Given the description of an element on the screen output the (x, y) to click on. 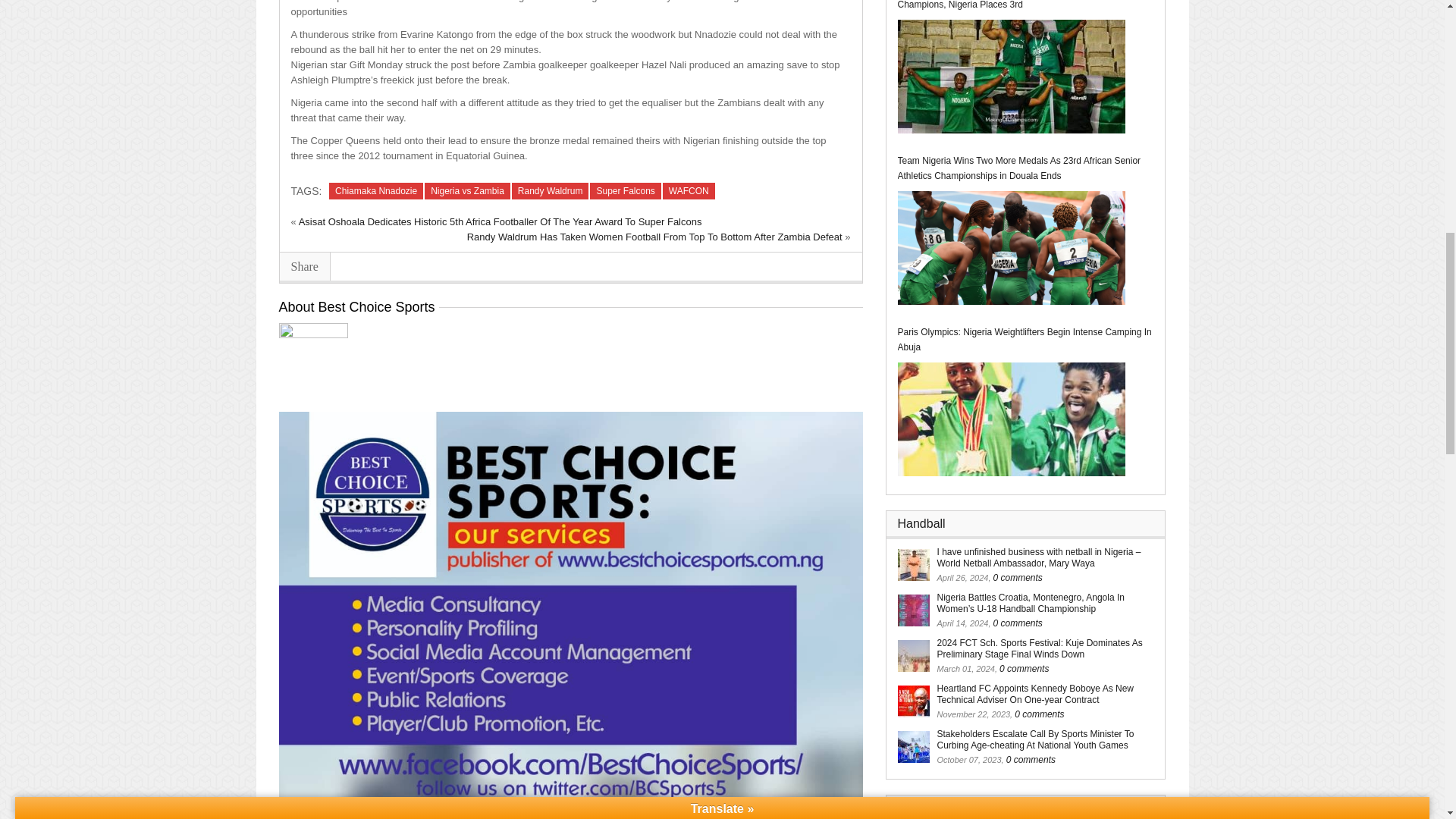
Super Falcons (625, 190)
WAFCON (688, 190)
Chiamaka Nnadozie (376, 190)
Nigeria vs Zambia (468, 190)
Randy Waldrum (550, 190)
